Given the description of an element on the screen output the (x, y) to click on. 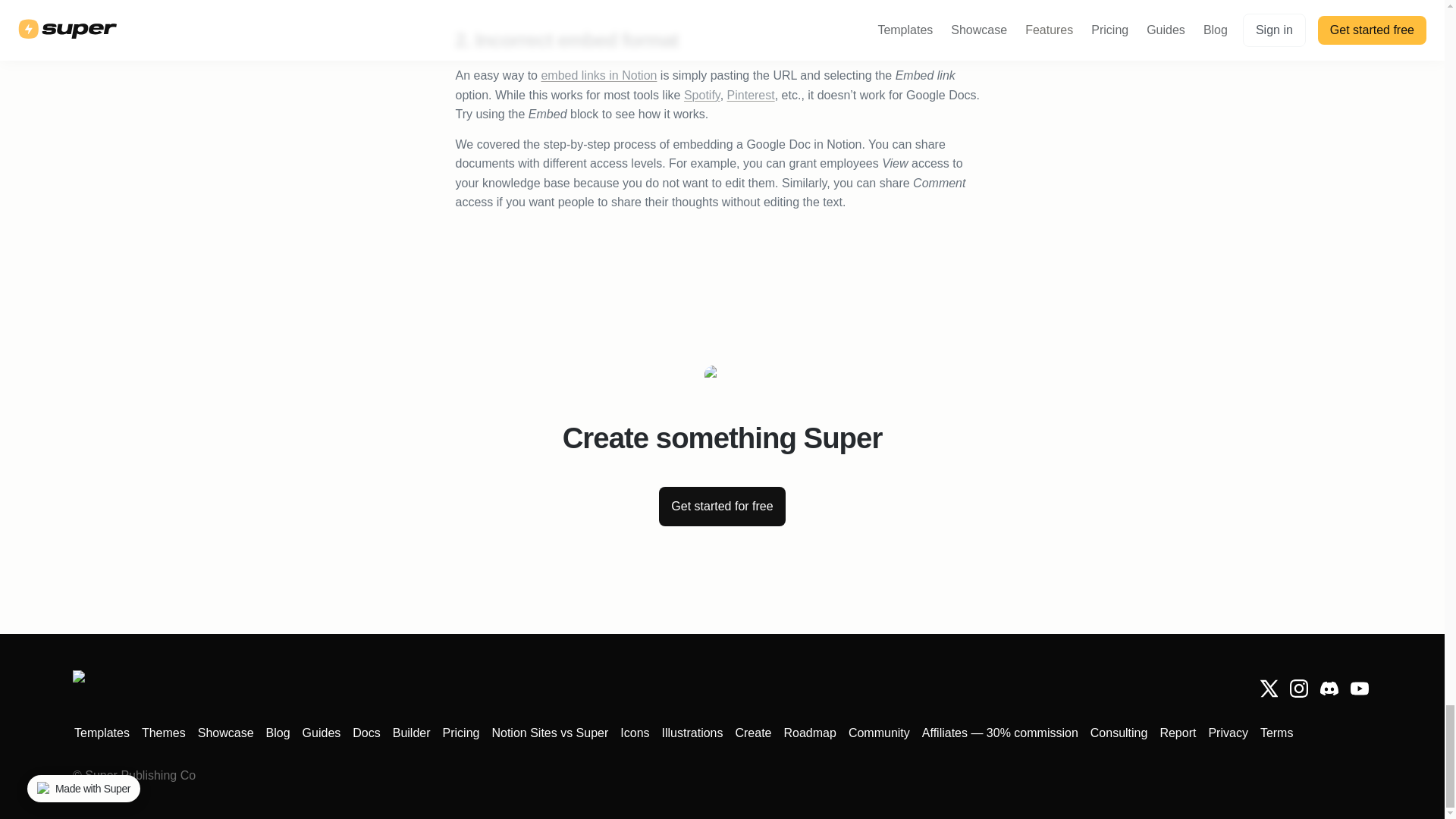
Icons (634, 733)
Templates (101, 733)
embed links in Notion (598, 74)
Builder (411, 733)
Terms (1277, 733)
Notion Sites vs Super (549, 733)
YouTube (1359, 688)
Privacy (1228, 733)
Get started for free (721, 506)
Pricing (461, 733)
